Given the description of an element on the screen output the (x, y) to click on. 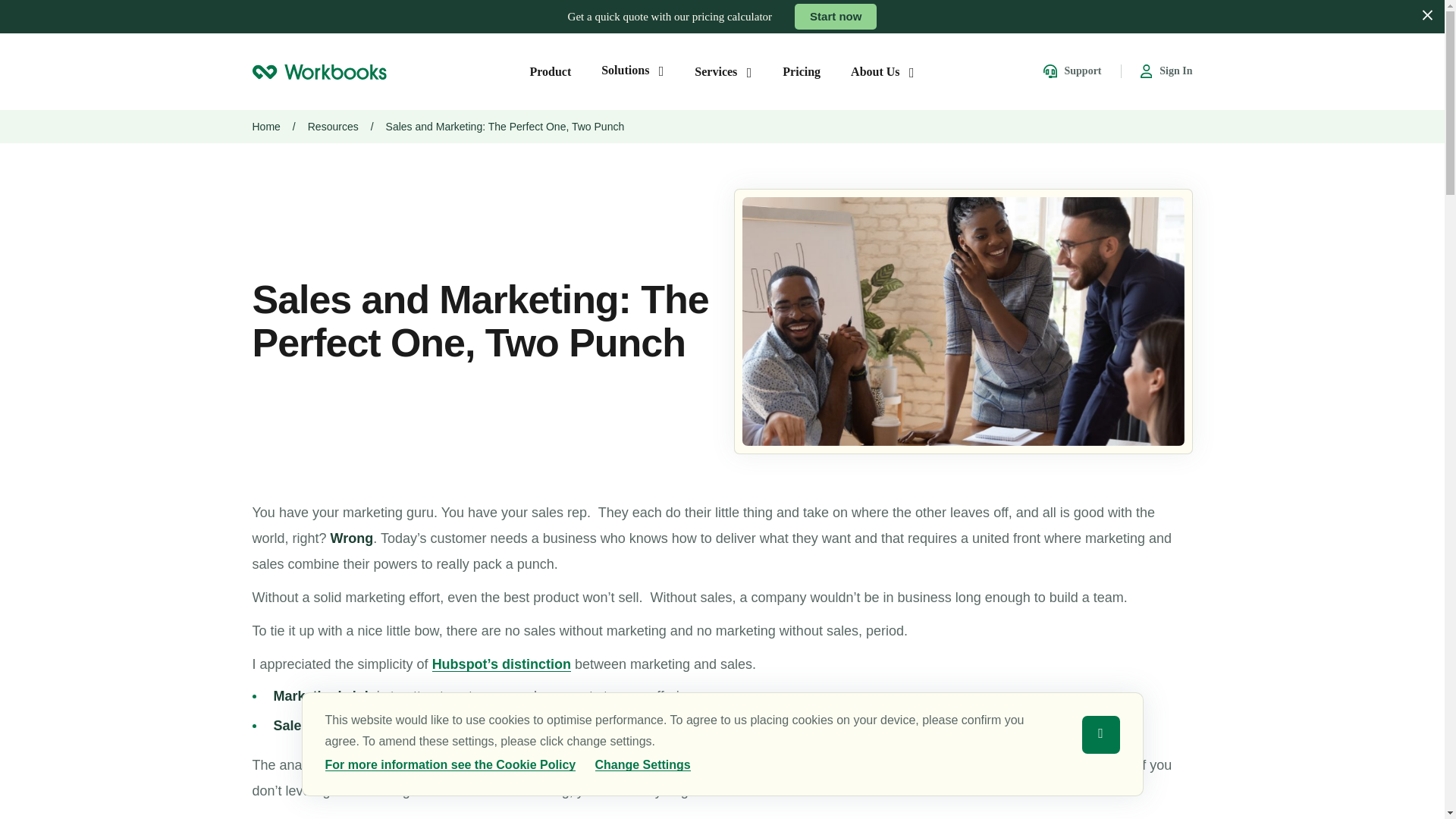
About Us (882, 71)
Sign In (1166, 70)
Services (723, 71)
Pricing (802, 71)
Product (549, 71)
Start now (835, 16)
Solutions (632, 69)
Support (1072, 70)
